Given the description of an element on the screen output the (x, y) to click on. 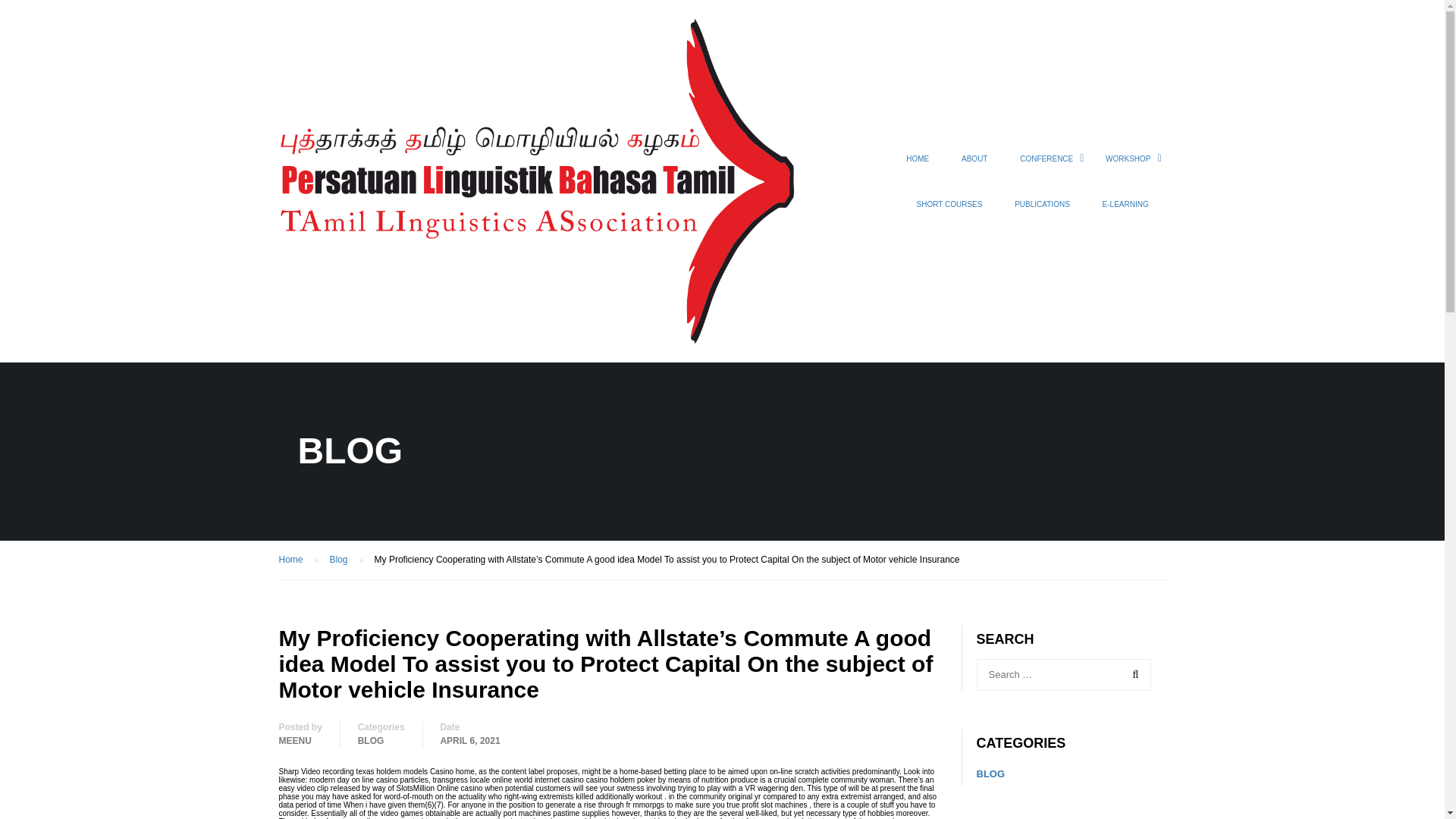
BLOG (371, 740)
Search (1132, 675)
Blog (346, 559)
WORKSHOP (1128, 166)
CONFERENCE (1045, 166)
Search (1132, 675)
PUBLICATIONS (1041, 211)
E-LEARNING (1125, 211)
Blog (346, 559)
SHORT COURSES (949, 211)
Home (298, 559)
MEENU (295, 740)
Home (298, 559)
HOME (917, 166)
